Given the description of an element on the screen output the (x, y) to click on. 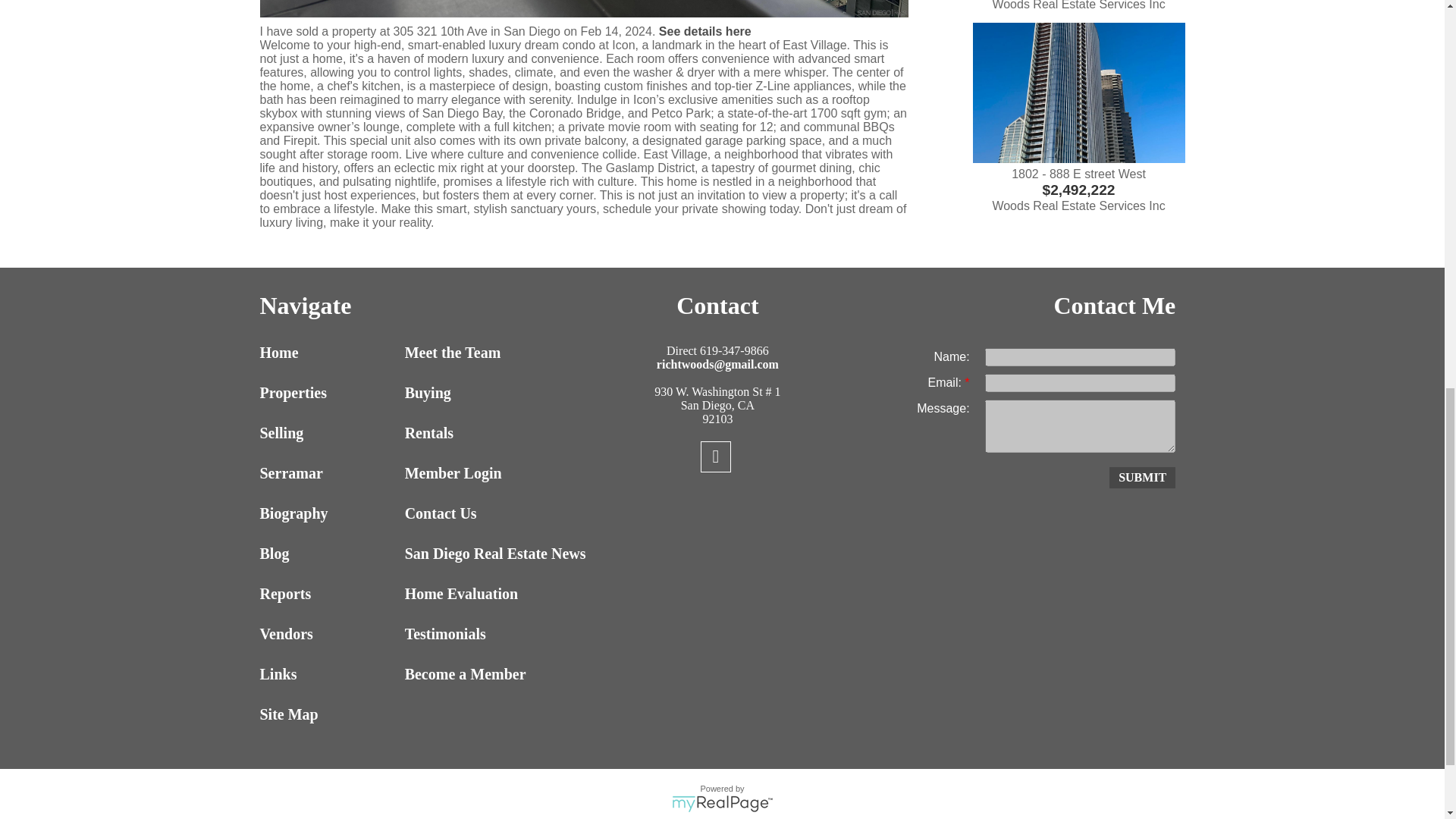
Links (327, 674)
Buying (472, 393)
Testimonials (472, 633)
Buying (472, 393)
Site Map (327, 714)
Reports (327, 593)
Properties (327, 393)
Biography (327, 513)
See details here (705, 31)
Home (327, 352)
San Diego Real Estate News (472, 553)
Properties (327, 393)
Selling (327, 433)
Home Evaluation (472, 593)
Vendors (327, 633)
